Given the description of an element on the screen output the (x, y) to click on. 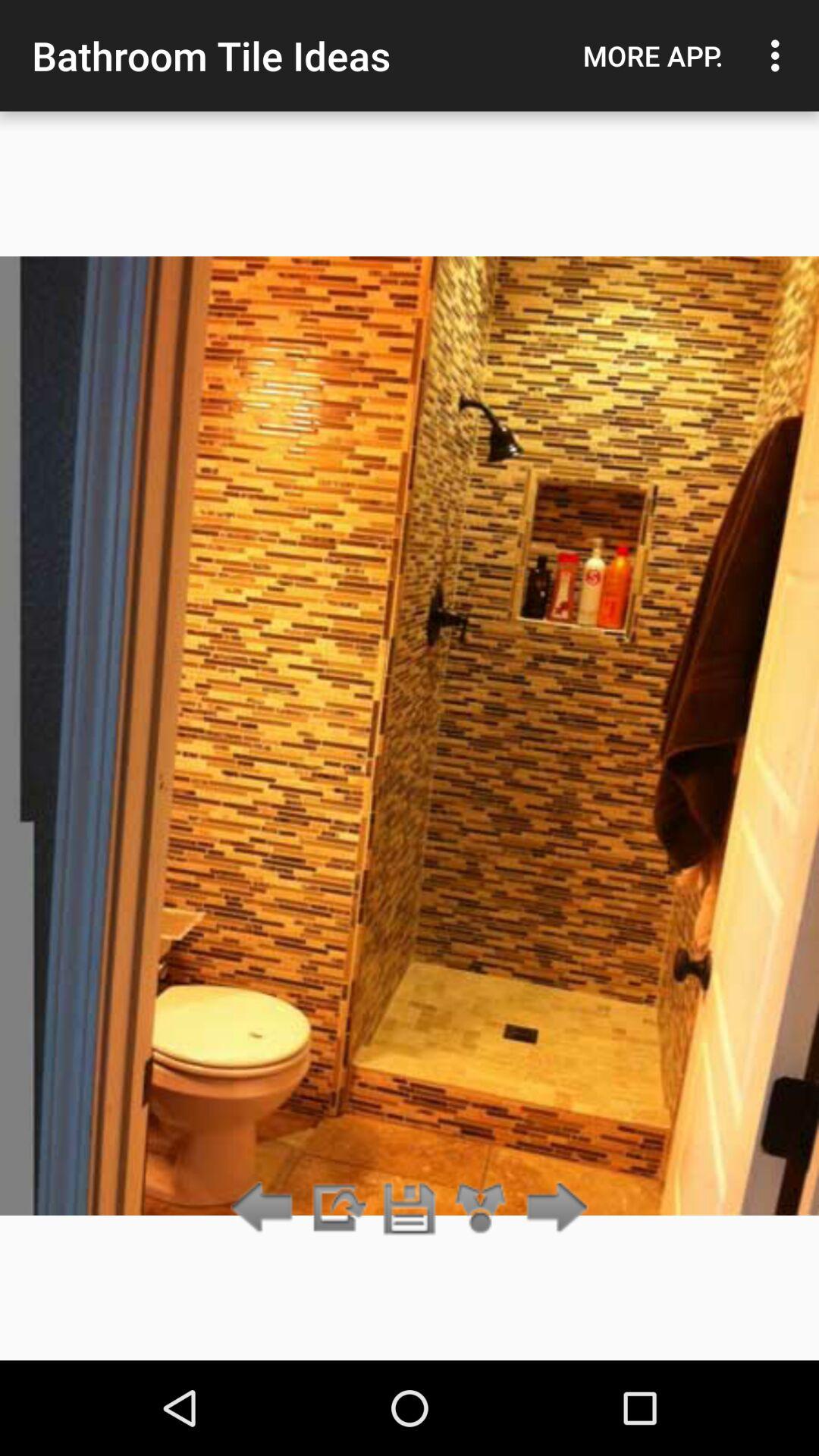
next (552, 1209)
